Given the description of an element on the screen output the (x, y) to click on. 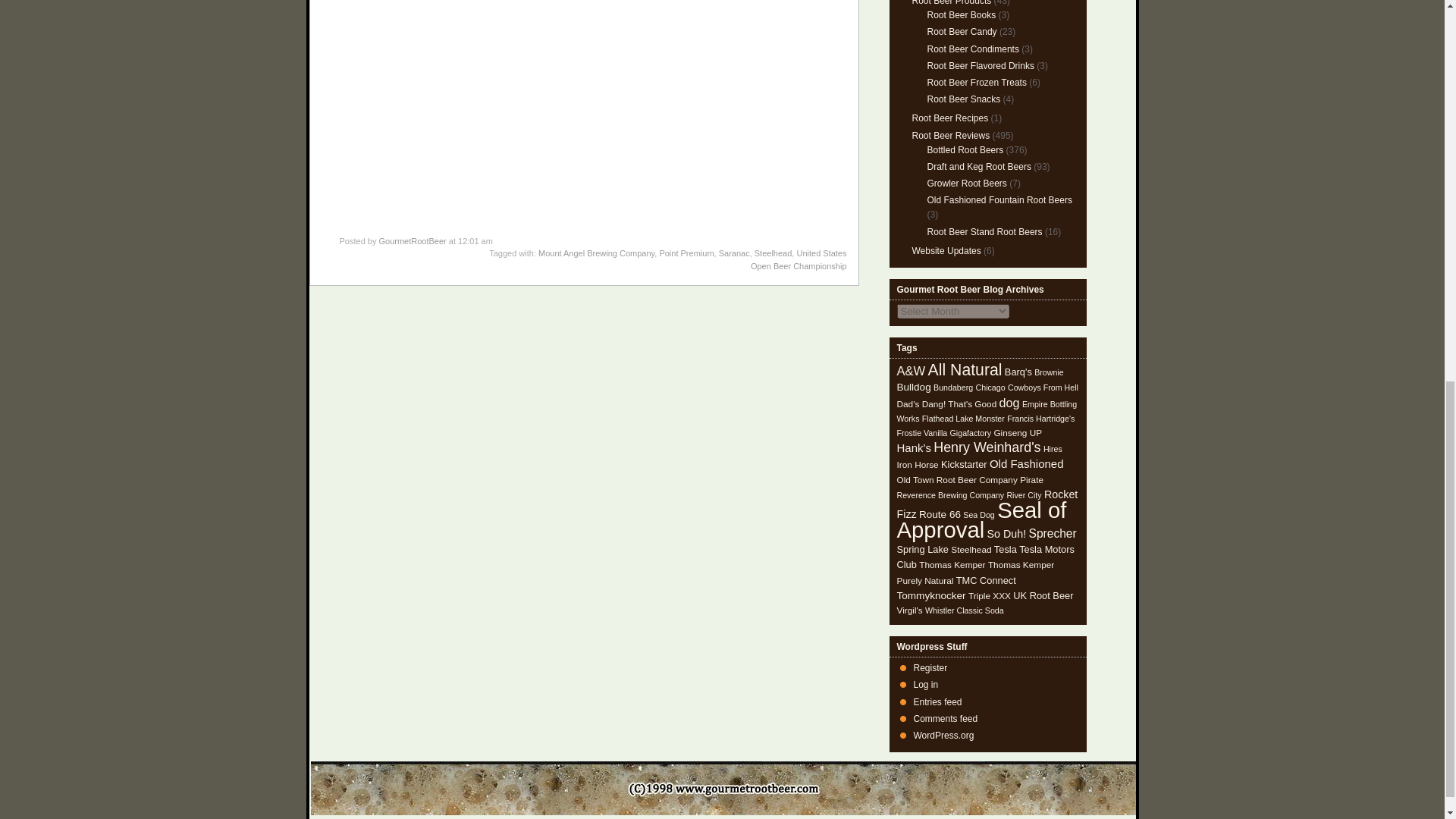
Root Beer Frozen Treats (976, 81)
Point Premium (686, 252)
United States Open Beer Championship (799, 259)
Root Beer Recipes (949, 118)
Root Beer Snacks (963, 99)
Root Beer Stand Root Beers (984, 231)
Root Beer Condiments (971, 49)
Root Beer Books (960, 14)
Steelhead (773, 252)
Draft and Keg Root Beers (978, 166)
Mount Angel Brewing Company (595, 252)
Root Beer Flavored Drinks (979, 65)
Root Beer Products (951, 2)
Root Beer Candy (960, 31)
Root Beer Reviews (950, 135)
